Given the description of an element on the screen output the (x, y) to click on. 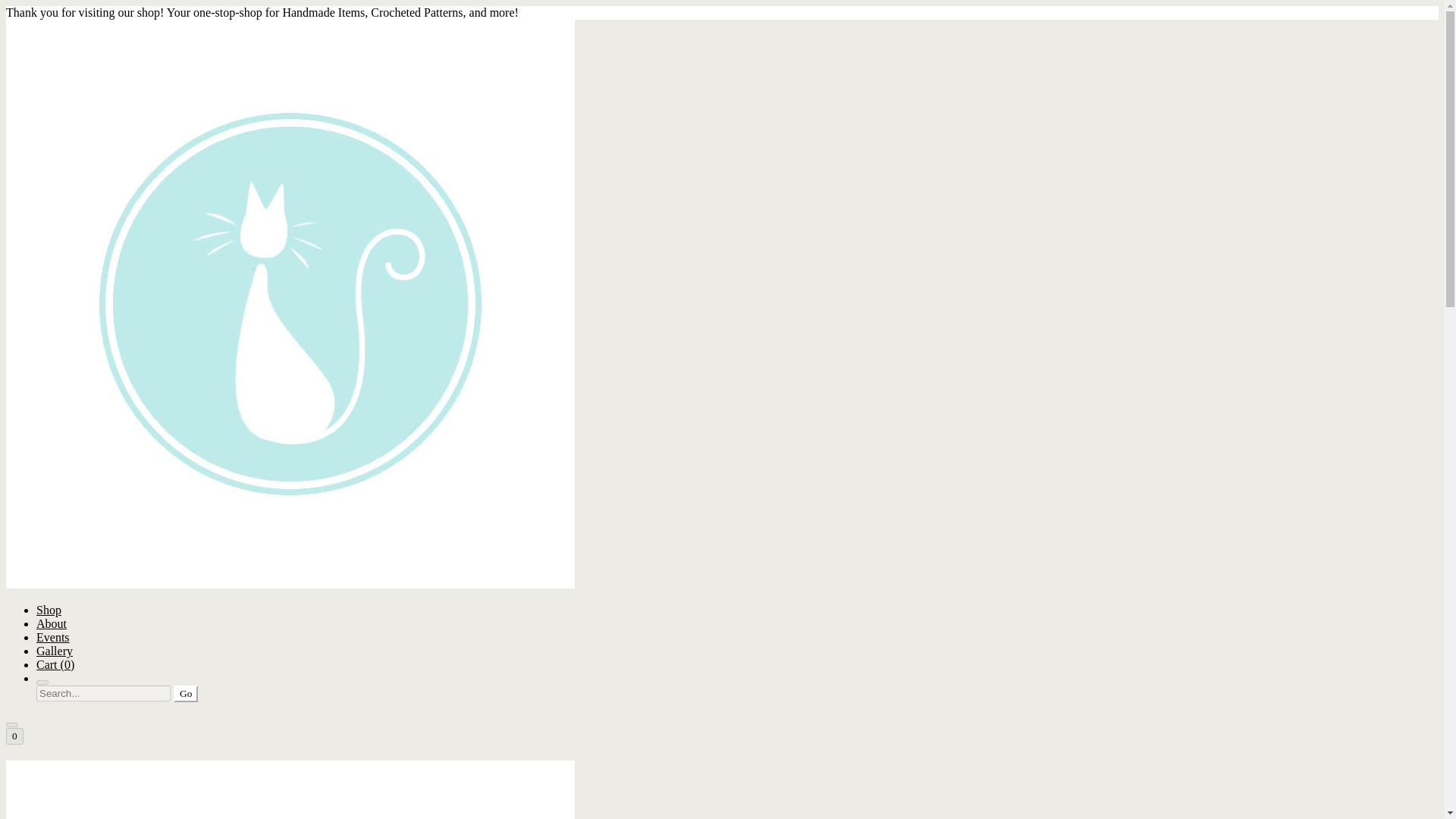
Go (185, 693)
Go (185, 693)
About (51, 623)
Events (52, 636)
Gallery (54, 650)
0 (14, 736)
Shop (48, 609)
